Given the description of an element on the screen output the (x, y) to click on. 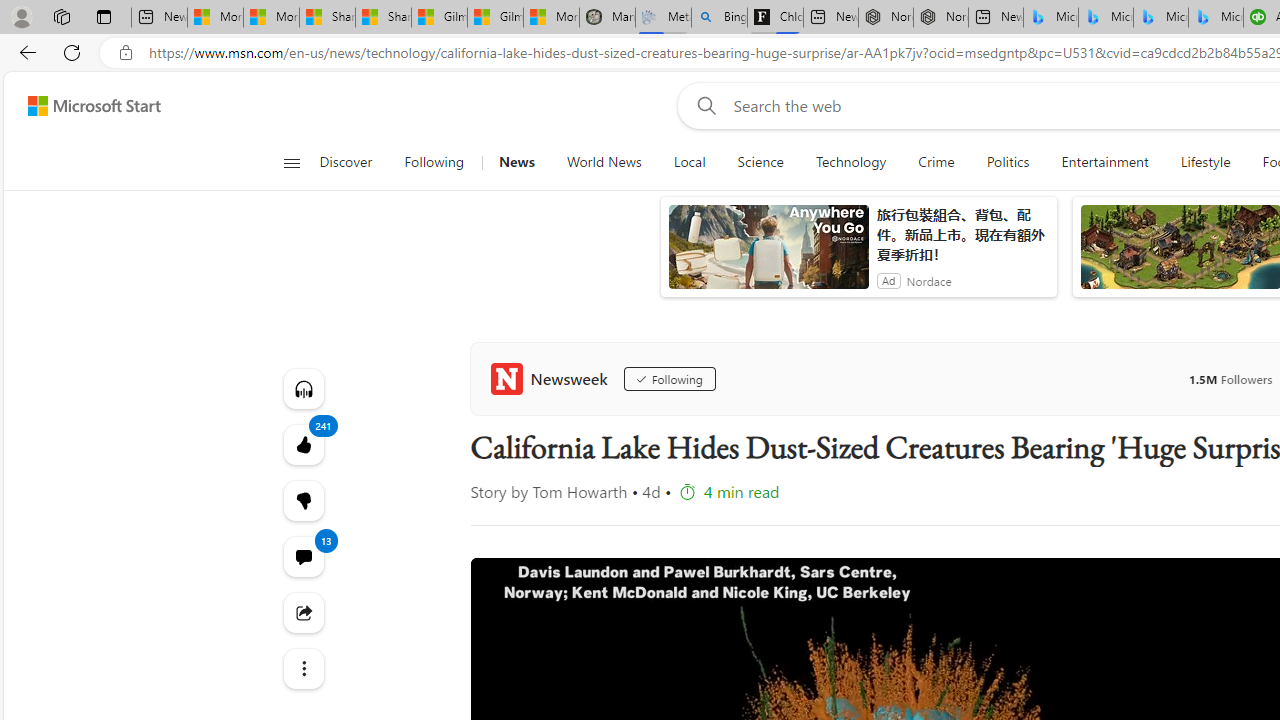
Technology (850, 162)
Bing Real Estate - Home sales and rental listings (719, 17)
Discover (353, 162)
Nordace - #1 Japanese Best-Seller - Siena Smart Backpack (940, 17)
Refresh (72, 52)
Web search (702, 105)
Manatee Mortality Statistics | FWC (606, 17)
See more (302, 668)
Ad (888, 280)
Microsoft Bing Travel - Stays in Bangkok, Bangkok, Thailand (1105, 17)
Shanghai, China weather forecast | Microsoft Weather (382, 17)
Chloe Sorvino (774, 17)
Microsoft Bing Travel - Shangri-La Hotel Bangkok (1215, 17)
Local (688, 162)
